Given the description of an element on the screen output the (x, y) to click on. 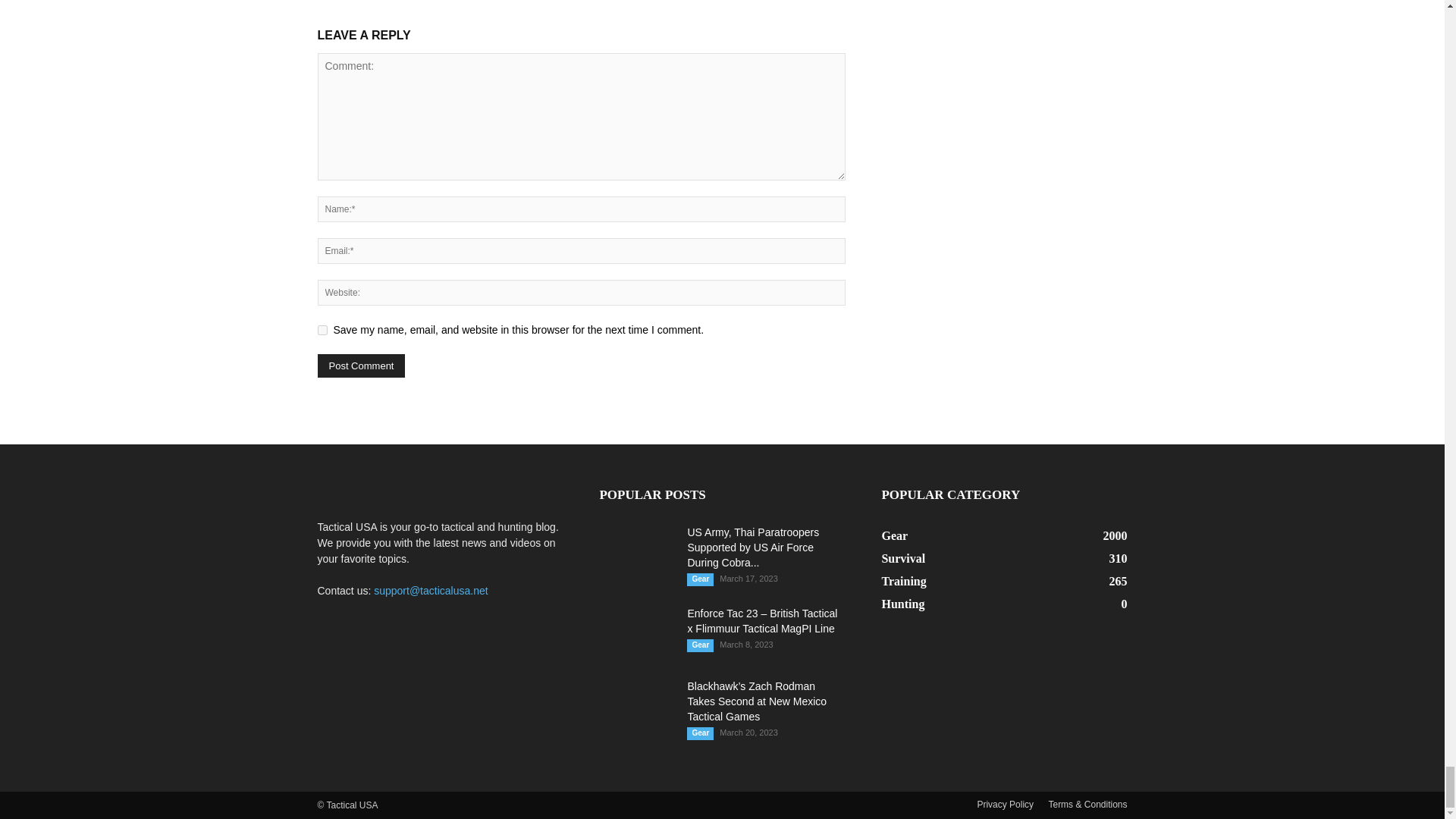
Post Comment (360, 365)
yes (321, 329)
